Given the description of an element on the screen output the (x, y) to click on. 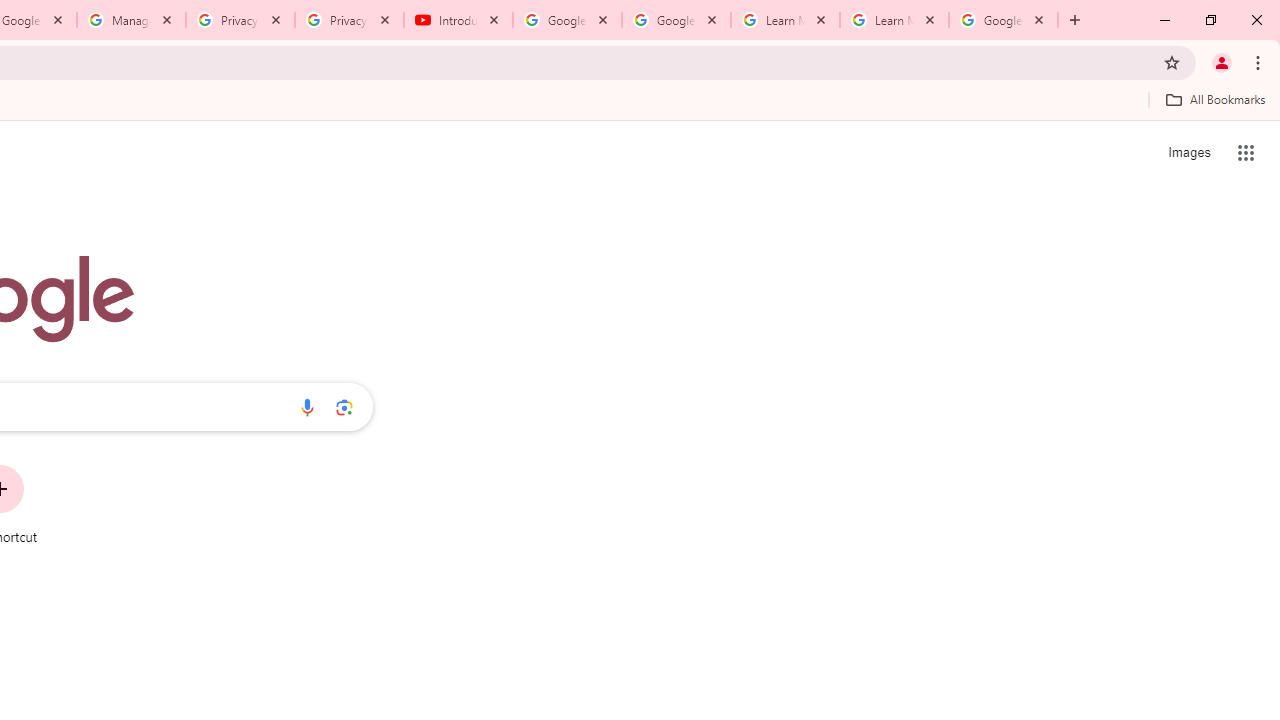
Google Account Help (567, 20)
